Given the description of an element on the screen output the (x, y) to click on. 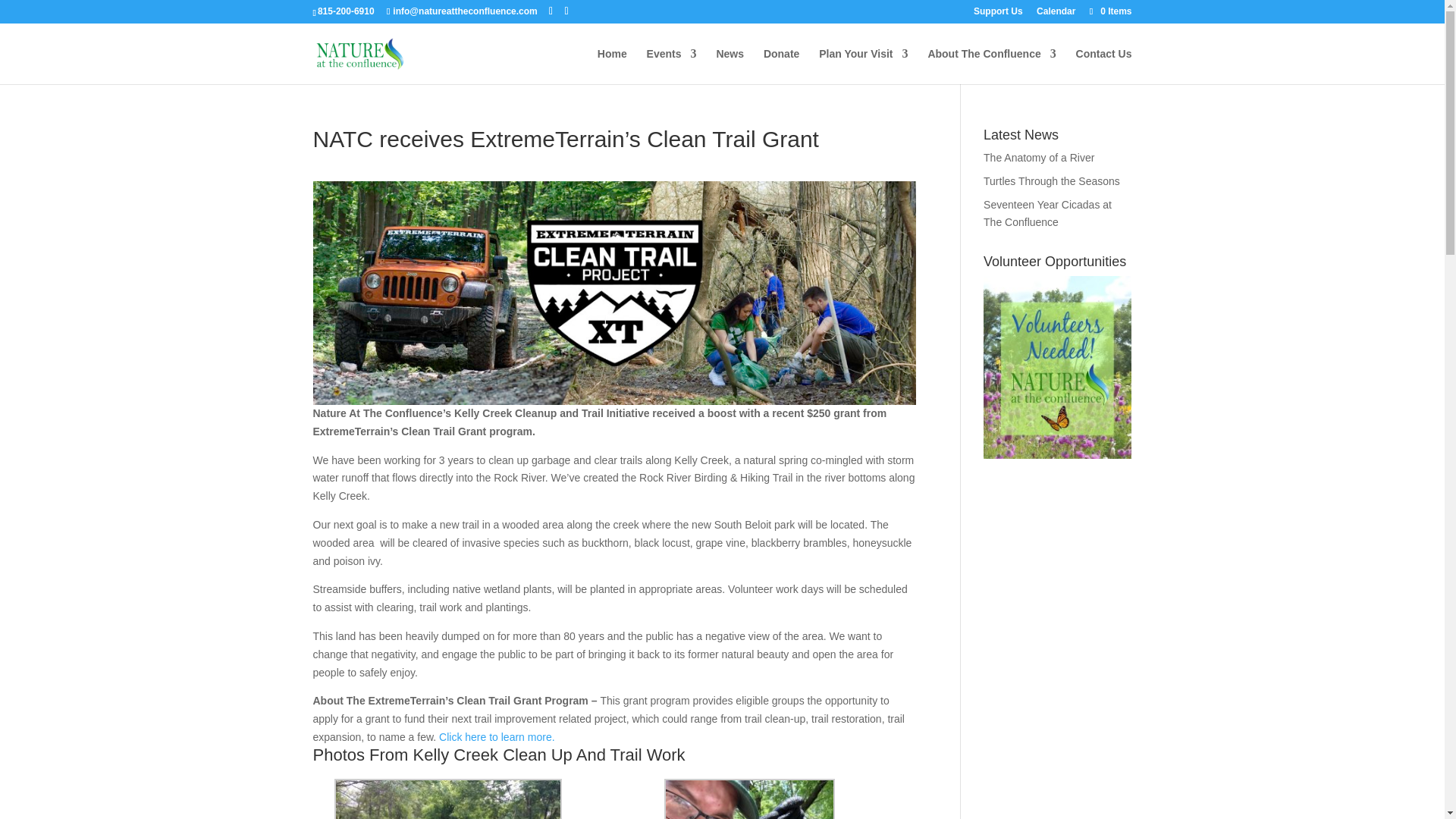
Support Us (998, 14)
Contact Us (1103, 66)
Calendar (1055, 14)
Donate (780, 66)
0 Items (1108, 10)
Plan Your Visit (862, 66)
About The Confluence (991, 66)
Volunteer Opportunities  (1057, 454)
Events (671, 66)
